Given the description of an element on the screen output the (x, y) to click on. 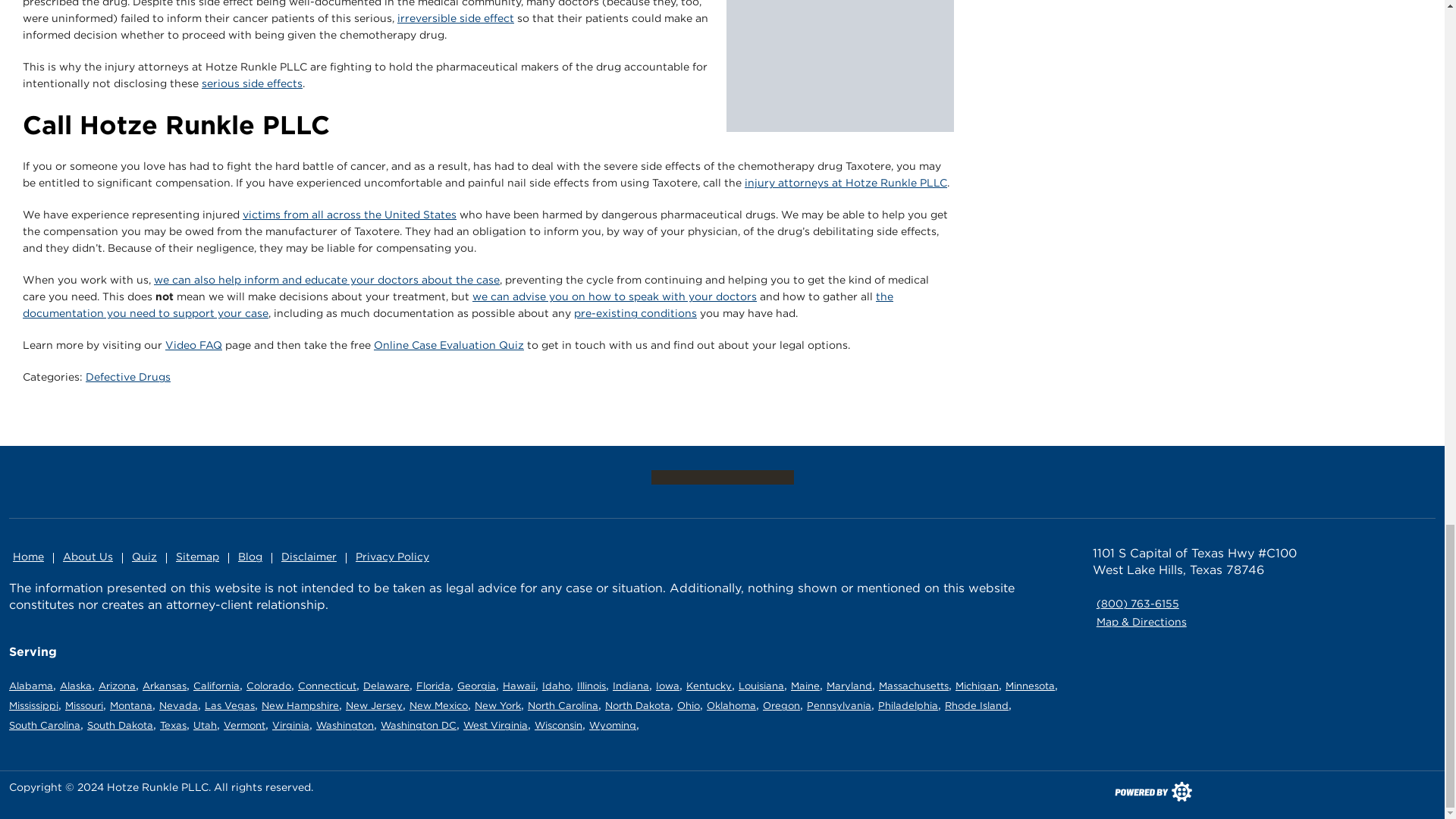
Defective Drugs (127, 377)
irreversible side effect (455, 18)
serious side effects (252, 82)
injury attorneys at Hotze Runkle PLLC (845, 182)
Video FAQ (193, 345)
the documentation you need to support your case (458, 304)
pre-existing conditions (635, 313)
Online Case Evaluation Quiz (449, 345)
victims from all across the United States (350, 214)
